Given the description of an element on the screen output the (x, y) to click on. 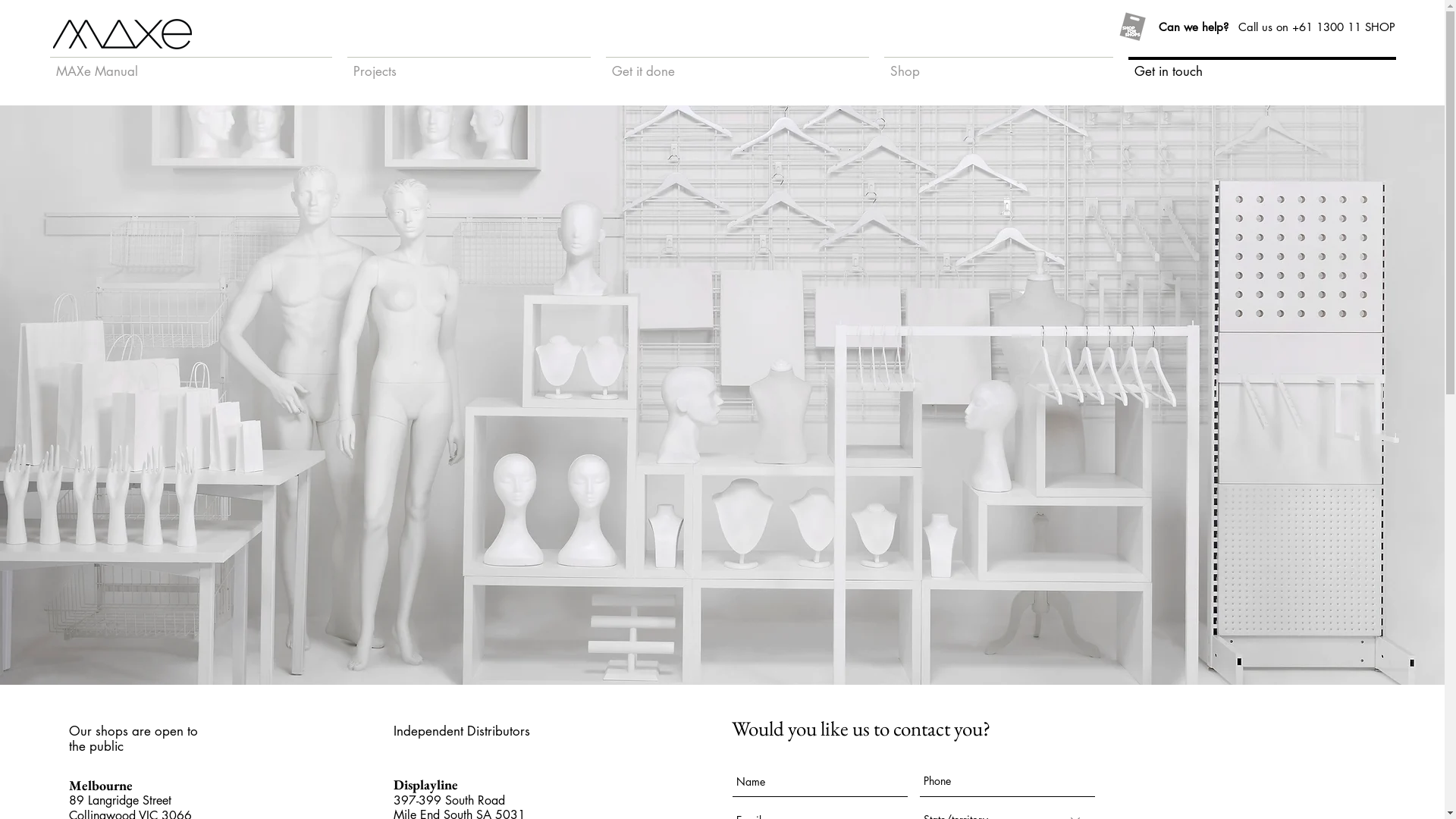
Can we help? Element type: text (1193, 26)
Shop Element type: text (998, 64)
Projects Element type: text (468, 64)
Peggie_Logo.png Element type: hover (122, 33)
Get in touch Element type: text (1261, 64)
Displayline Element type: text (425, 784)
Get it done Element type: text (736, 64)
MAXe Manual Element type: text (190, 64)
Call us on +61 1300 11 SHOP Element type: text (1316, 26)
Melbourne Element type: text (100, 784)
